Given the description of an element on the screen output the (x, y) to click on. 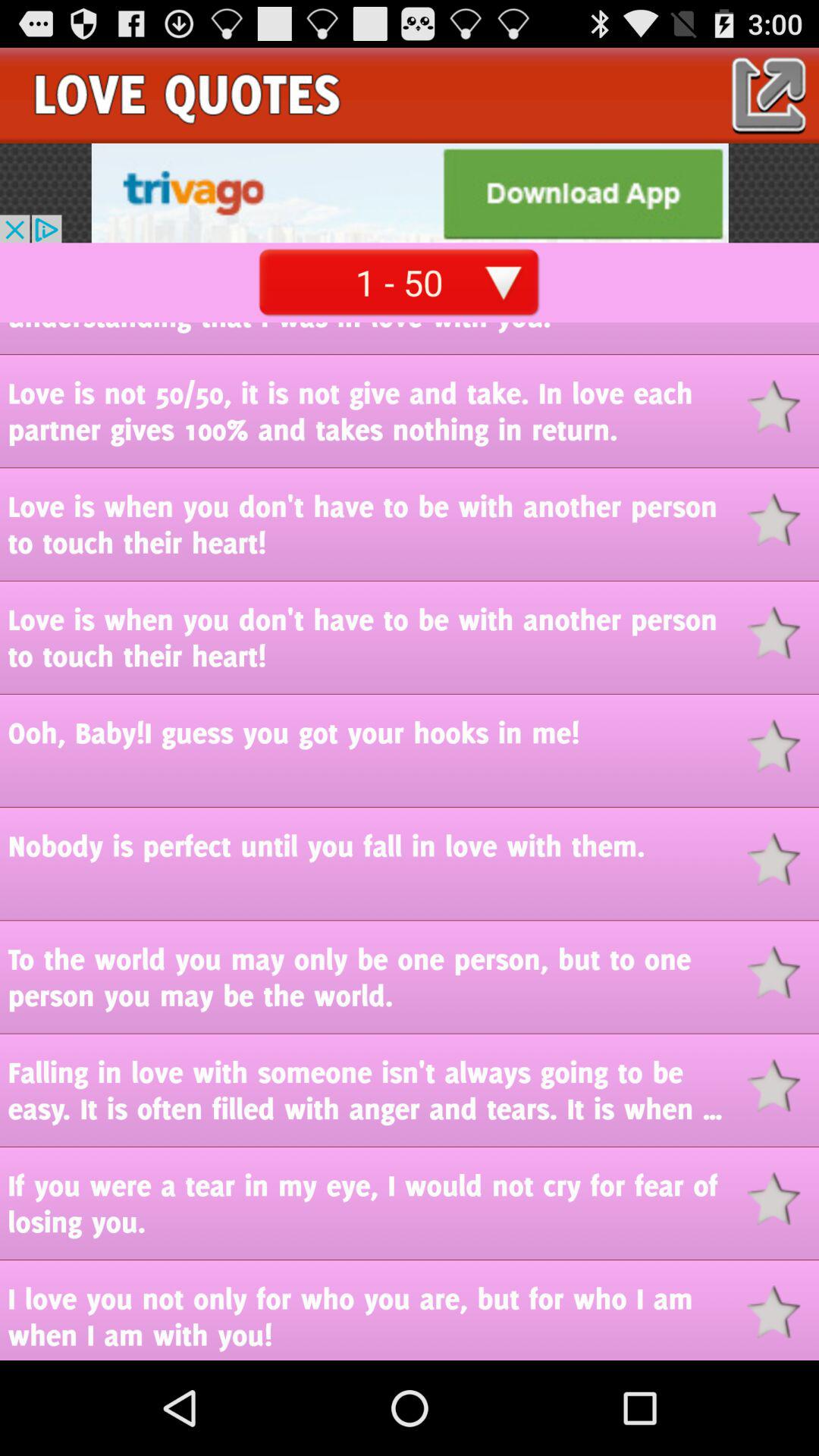
adds to favorites (783, 1311)
